Given the description of an element on the screen output the (x, y) to click on. 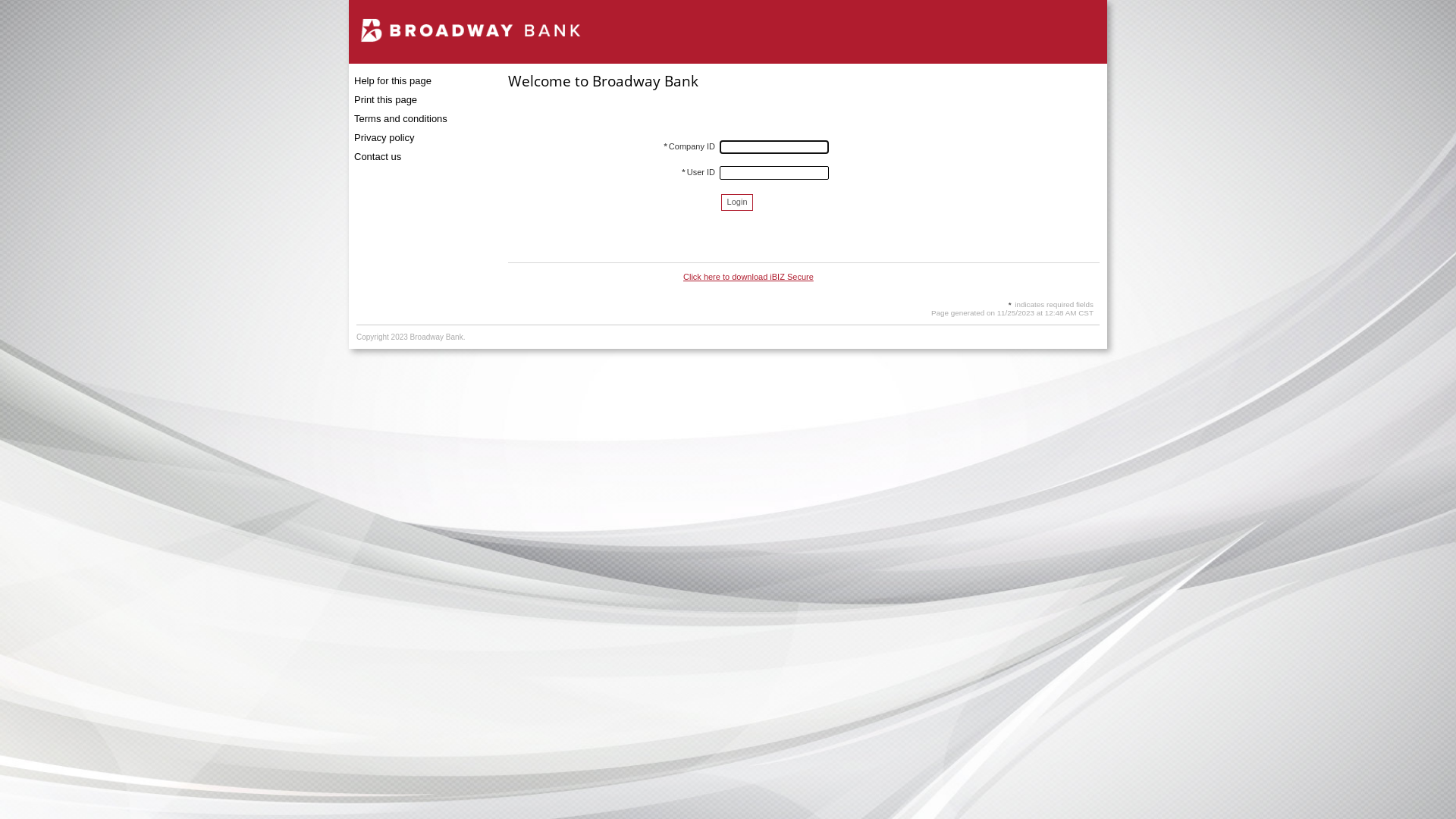
Contact us Element type: text (418, 156)
Privacy policy Element type: text (418, 137)
Click here to download iBIZ Secure Element type: text (748, 276)
Print this page Element type: text (418, 99)
Login Element type: text (737, 202)
Terms and conditions Element type: text (418, 118)
Help for this page Element type: text (418, 80)
